Given the description of an element on the screen output the (x, y) to click on. 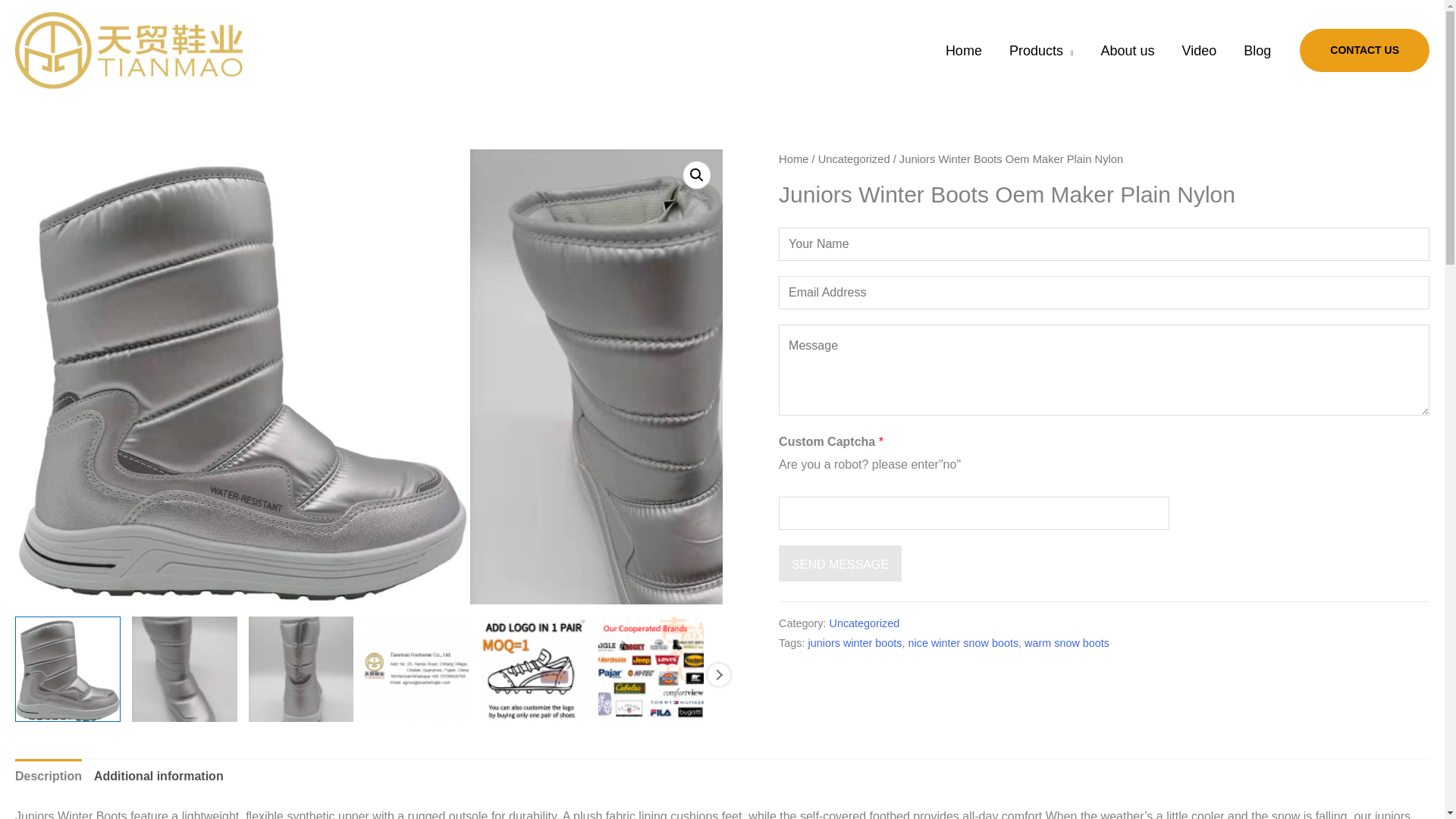
CONTACT US (1364, 50)
Blog (1257, 50)
Products (1041, 50)
Home (963, 50)
Video (1199, 50)
Next (717, 674)
About us (1126, 50)
